Given the description of an element on the screen output the (x, y) to click on. 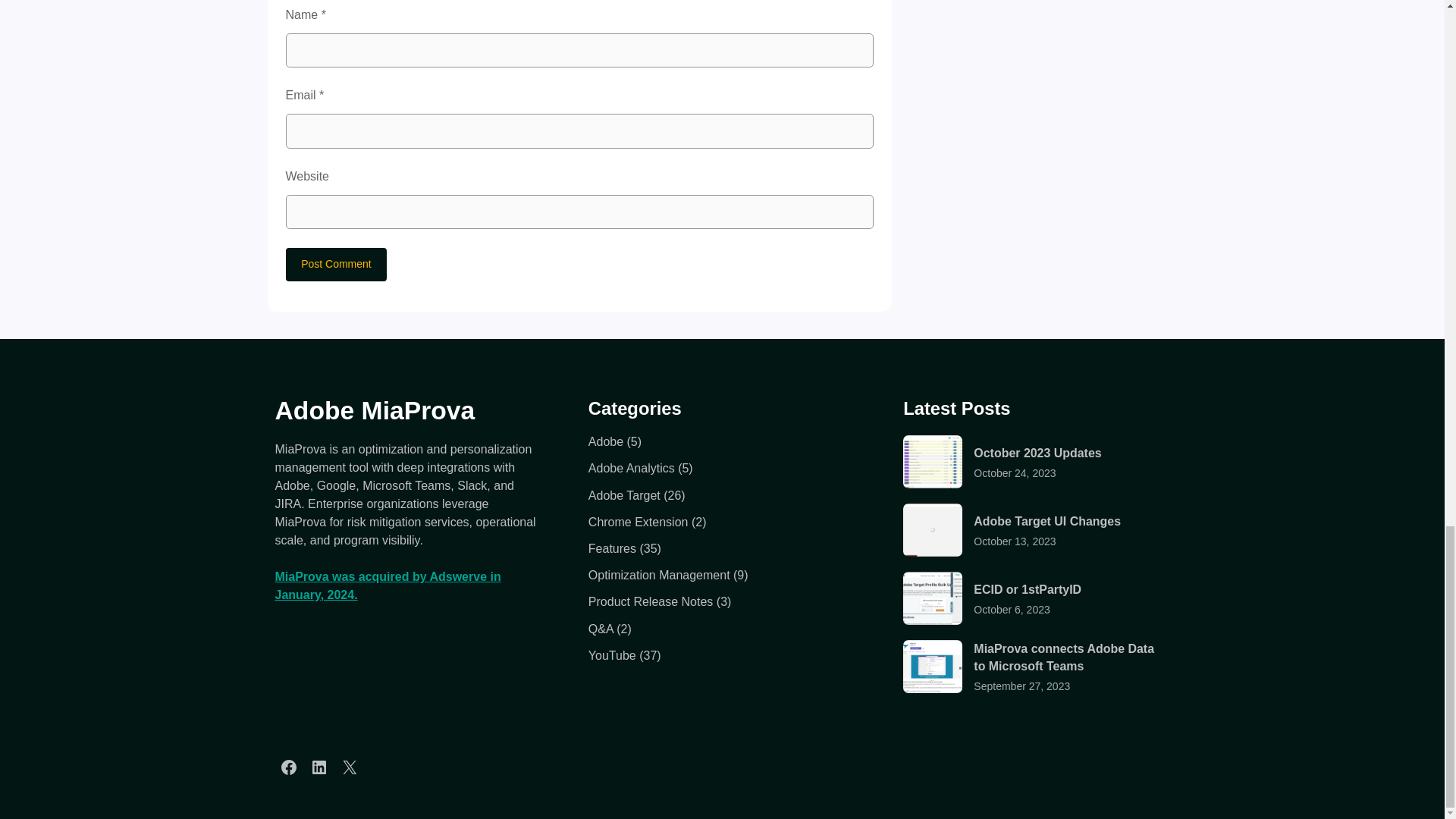
Post Comment (336, 264)
Adobe Target (624, 495)
Features (612, 548)
Adobe Analytics (631, 468)
Chrome Extension (638, 521)
Adobe (605, 440)
Post Comment (336, 264)
MiaProva was acquired by Adswerve in January, 2024. (387, 585)
